Given the description of an element on the screen output the (x, y) to click on. 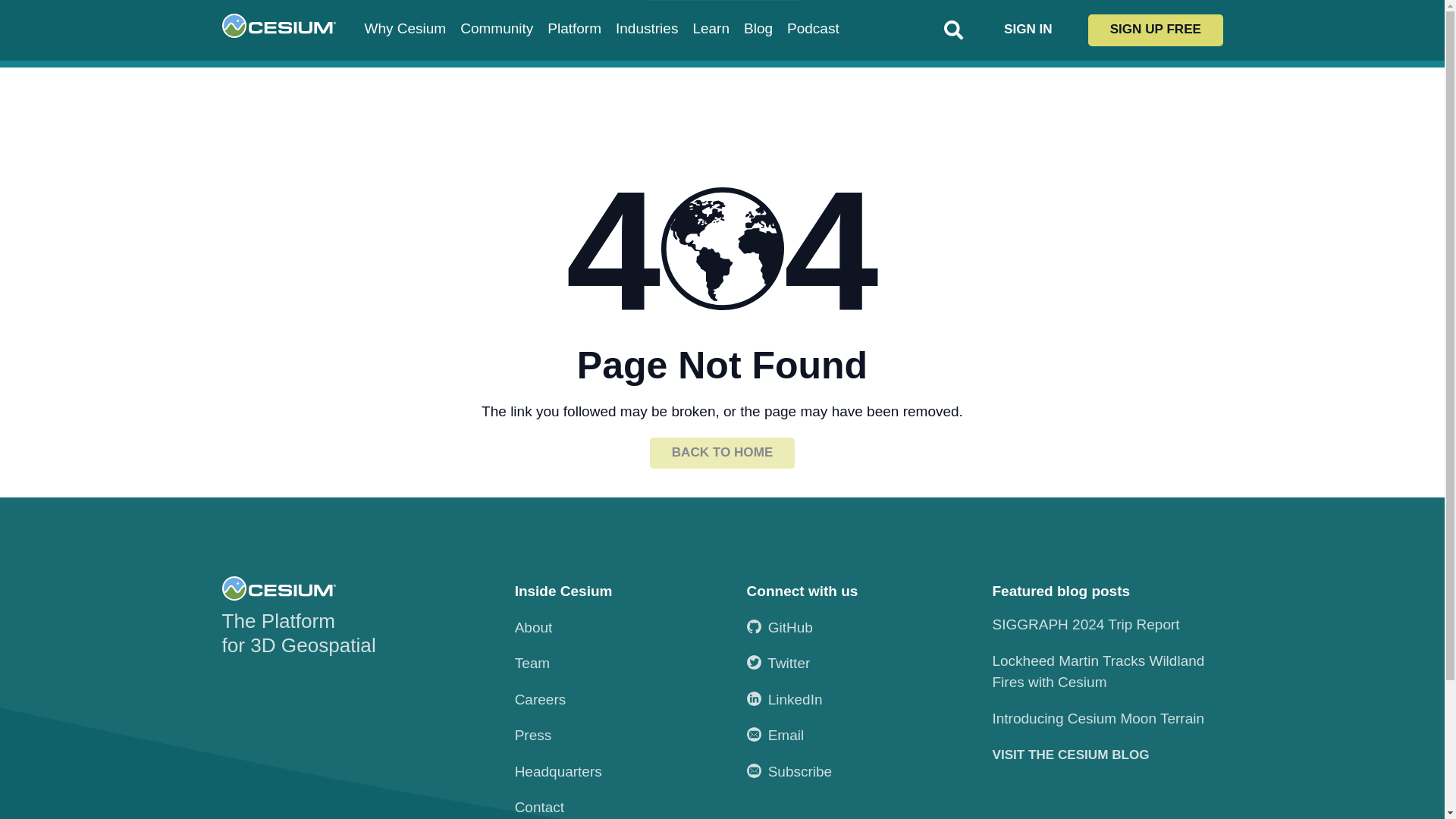
Platform (574, 28)
Community (496, 28)
Why Cesium (404, 28)
Industries (646, 28)
